Given the description of an element on the screen output the (x, y) to click on. 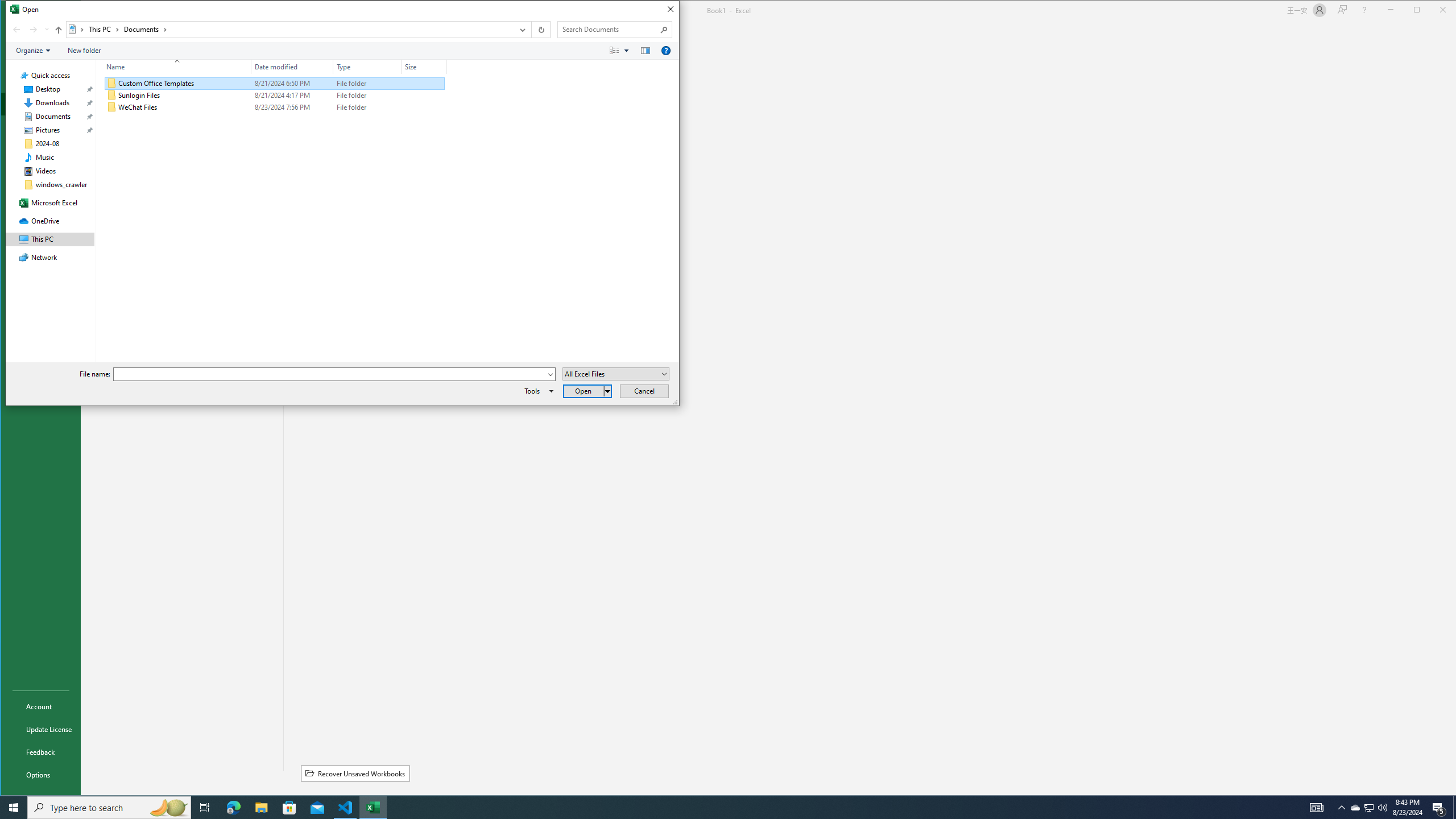
Navigation buttons (29, 29)
Filter dropdown (442, 66)
